Given the description of an element on the screen output the (x, y) to click on. 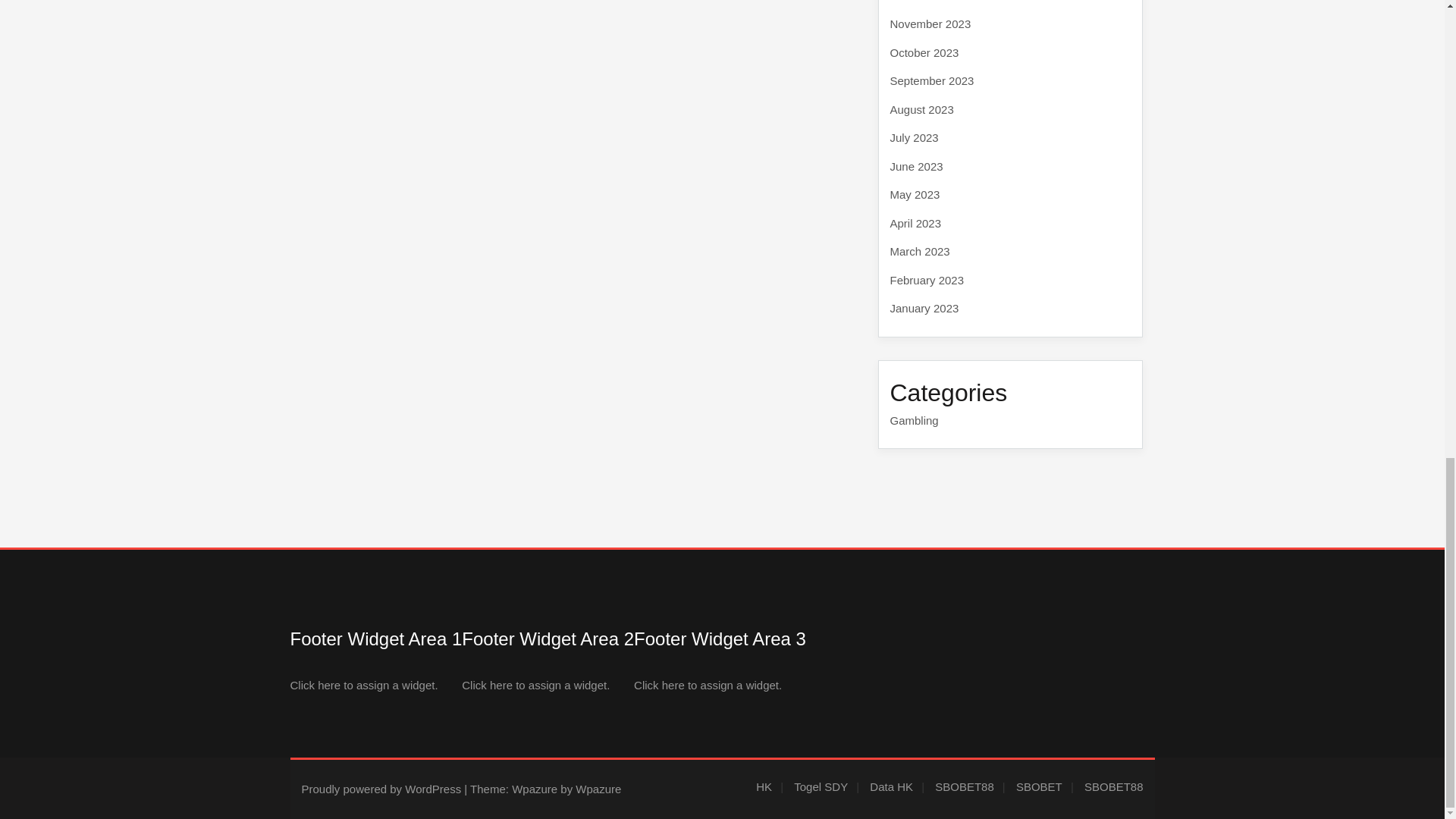
October 2023 (924, 51)
February 2023 (926, 279)
HK (769, 786)
May 2023 (914, 194)
Click here to assign a widget. (363, 684)
Click here to assign a widget. (535, 684)
SBOBET (1045, 786)
September 2023 (931, 80)
August 2023 (921, 108)
June 2023 (916, 165)
